Given the description of an element on the screen output the (x, y) to click on. 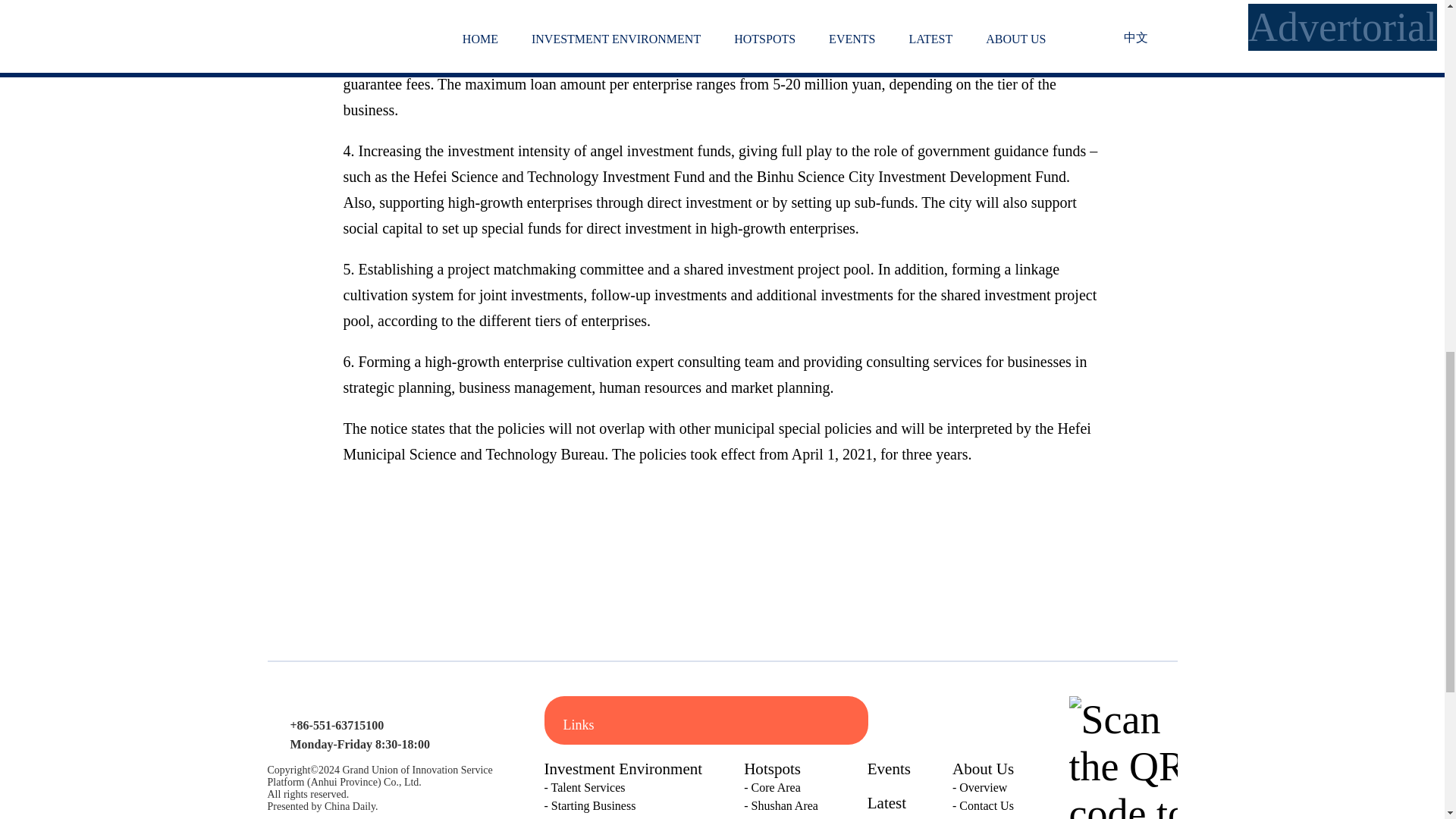
Investment Environment (623, 769)
- Starting Business (623, 805)
- Talent Services (623, 787)
- Fund (623, 816)
Hotspots (772, 769)
